Given the description of an element on the screen output the (x, y) to click on. 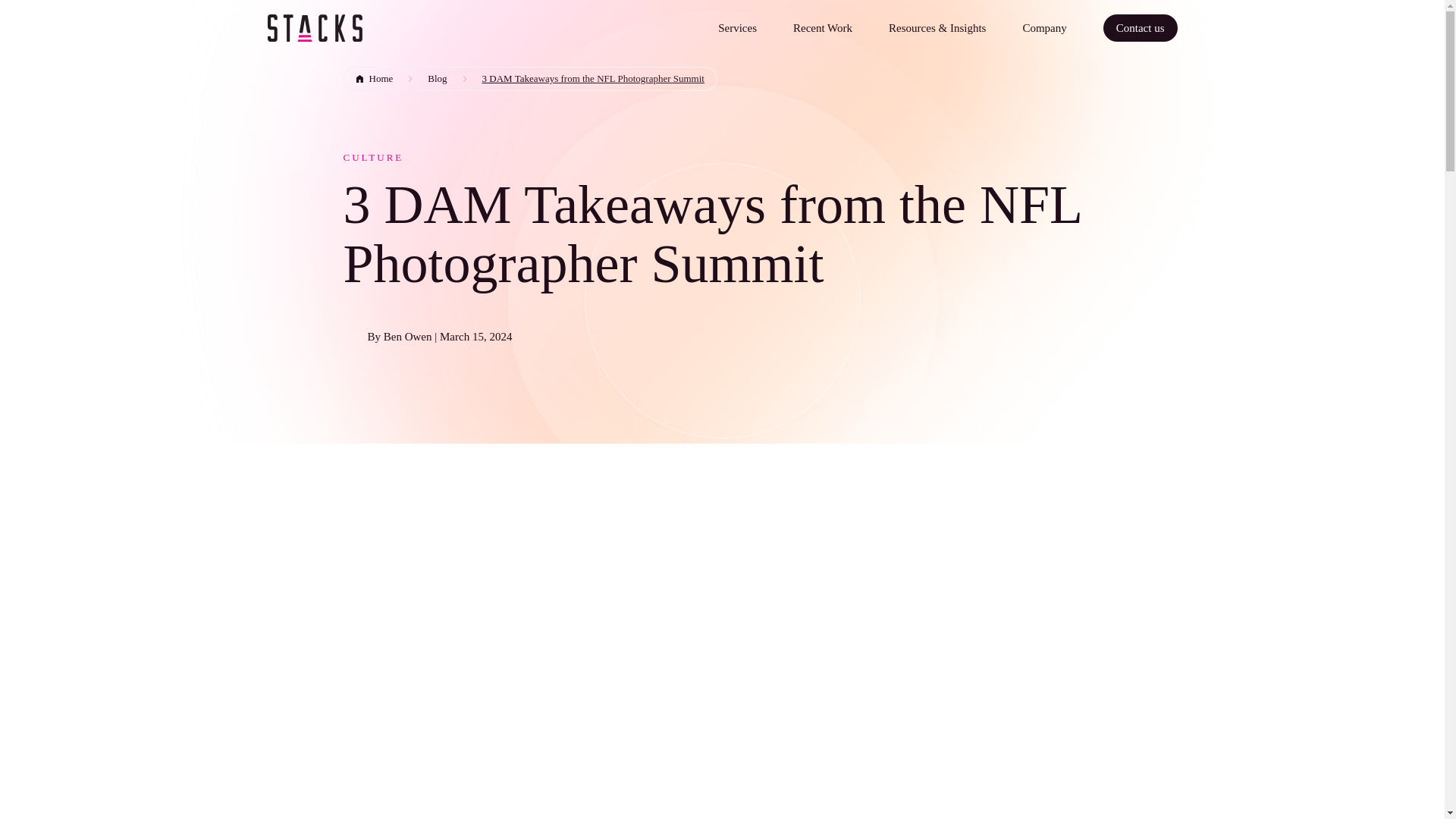
Contact us (1140, 27)
Recent Work (822, 28)
3 DAM Takeaways from the NFL Photographer Summit (593, 78)
Return to homepage (313, 28)
Blog (436, 78)
Home (373, 78)
